Given the description of an element on the screen output the (x, y) to click on. 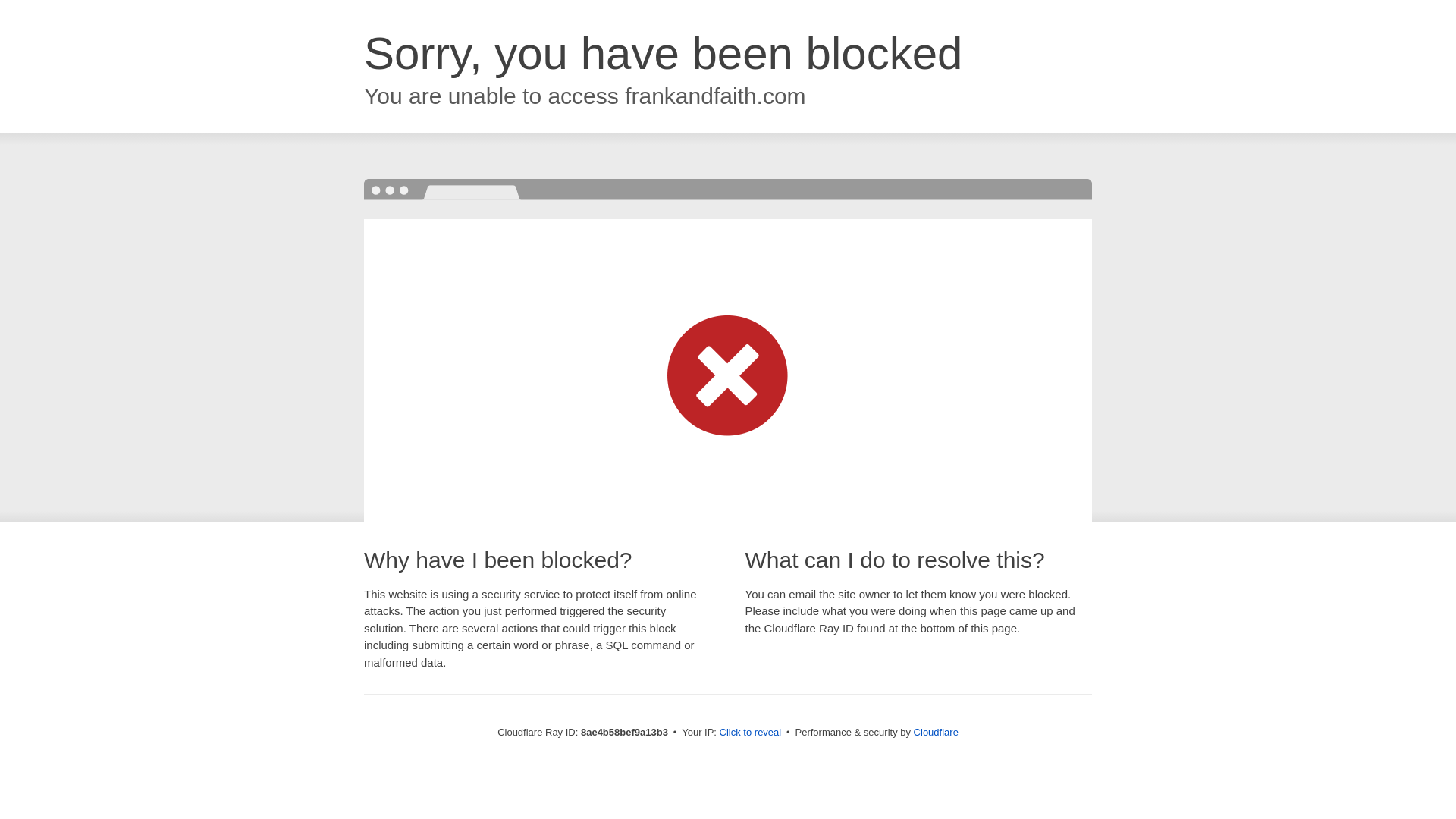
Click to reveal (750, 732)
Cloudflare (936, 731)
